Given the description of an element on the screen output the (x, y) to click on. 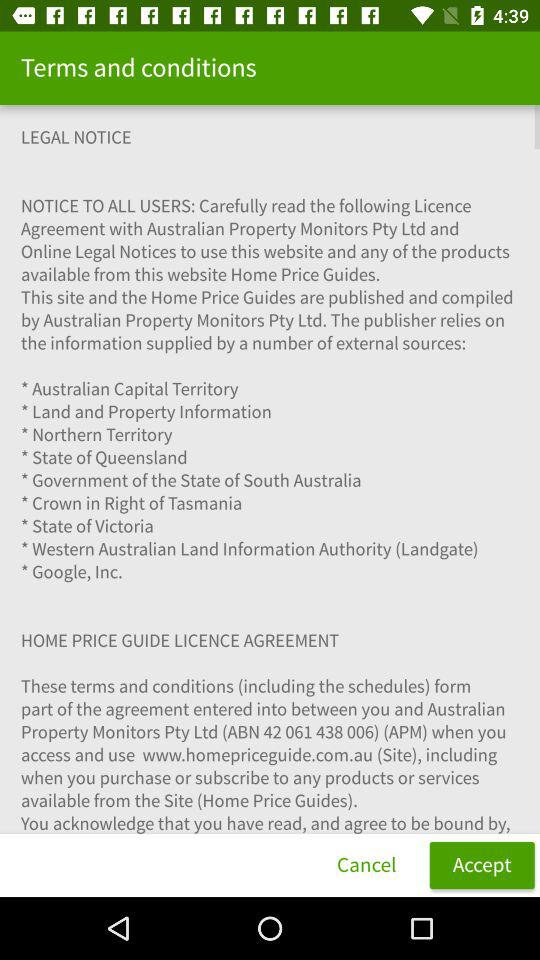
press accept icon (482, 864)
